Given the description of an element on the screen output the (x, y) to click on. 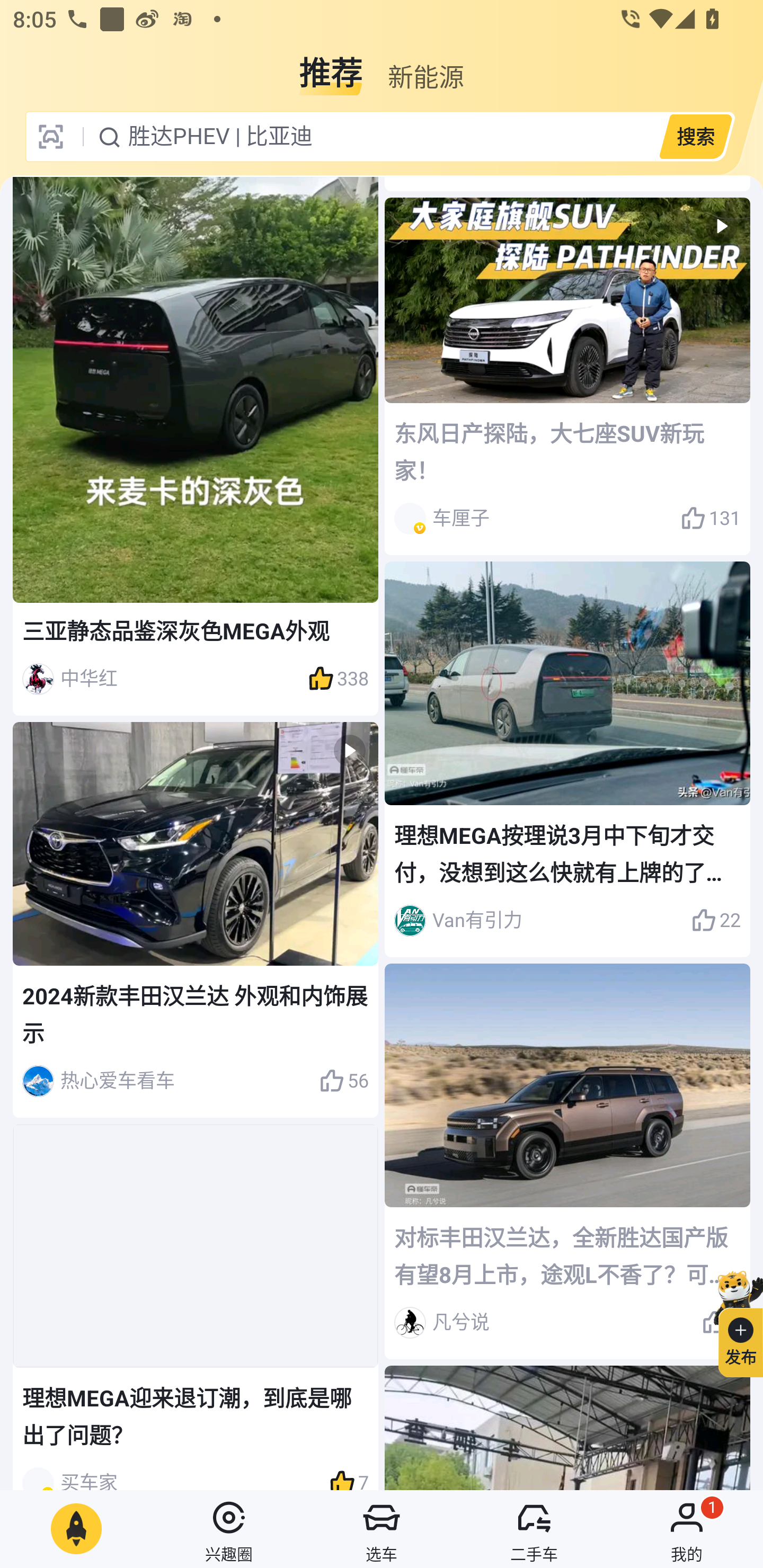
推荐 (330, 65)
新能源 (425, 65)
搜索 (695, 136)
三亚静态品鉴深灰色MEGA外观 中华红 338 (195, 446)
 东风日产探陆，大七座SUV新玩家！ 车厘子 131 (567, 376)
131 (710, 518)
338 (338, 678)
 2024新款丰田汉兰达 外观和内饰展示 热心爱车看车 56 (195, 919)
22 (715, 919)
56 (343, 1080)
理想MEGA迎来退订潮，到底是哪出了问题？ 买车家 7 (195, 1306)
发布 (732, 1321)
7 (348, 1474)
 兴趣圈 (228, 1528)
 选车 (381, 1528)
 二手车 (533, 1528)
 我的 (686, 1528)
